Given the description of an element on the screen output the (x, y) to click on. 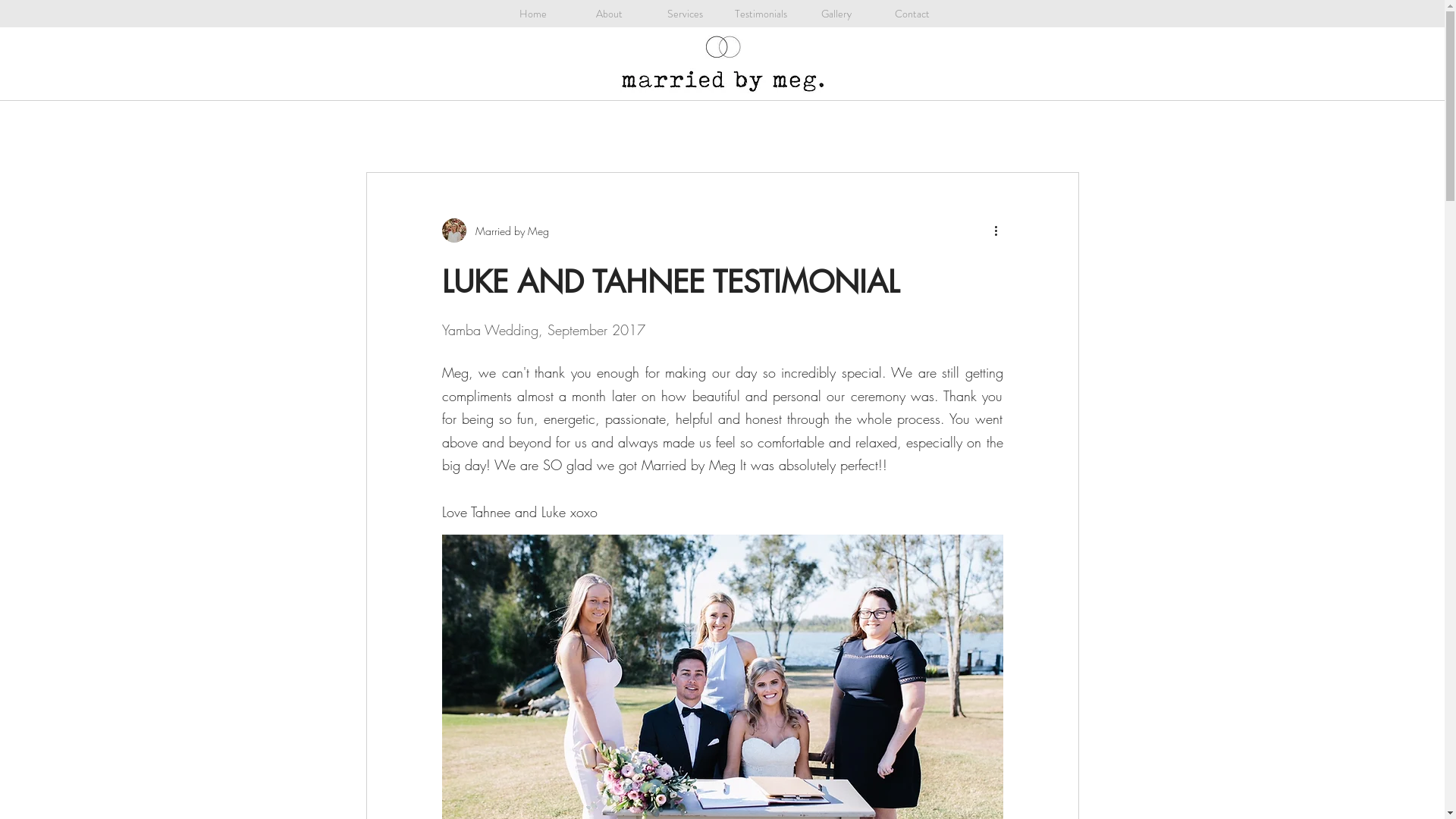
About Element type: text (608, 13)
Married by Meg Element type: text (494, 230)
Home Element type: text (532, 13)
Testimonials Element type: text (759, 13)
Gallery Element type: text (835, 13)
LUKE AND TAHNEE TESTIMONIAL Element type: text (669, 281)
Services Element type: text (683, 13)
Contact Element type: text (911, 13)
